Given the description of an element on the screen output the (x, y) to click on. 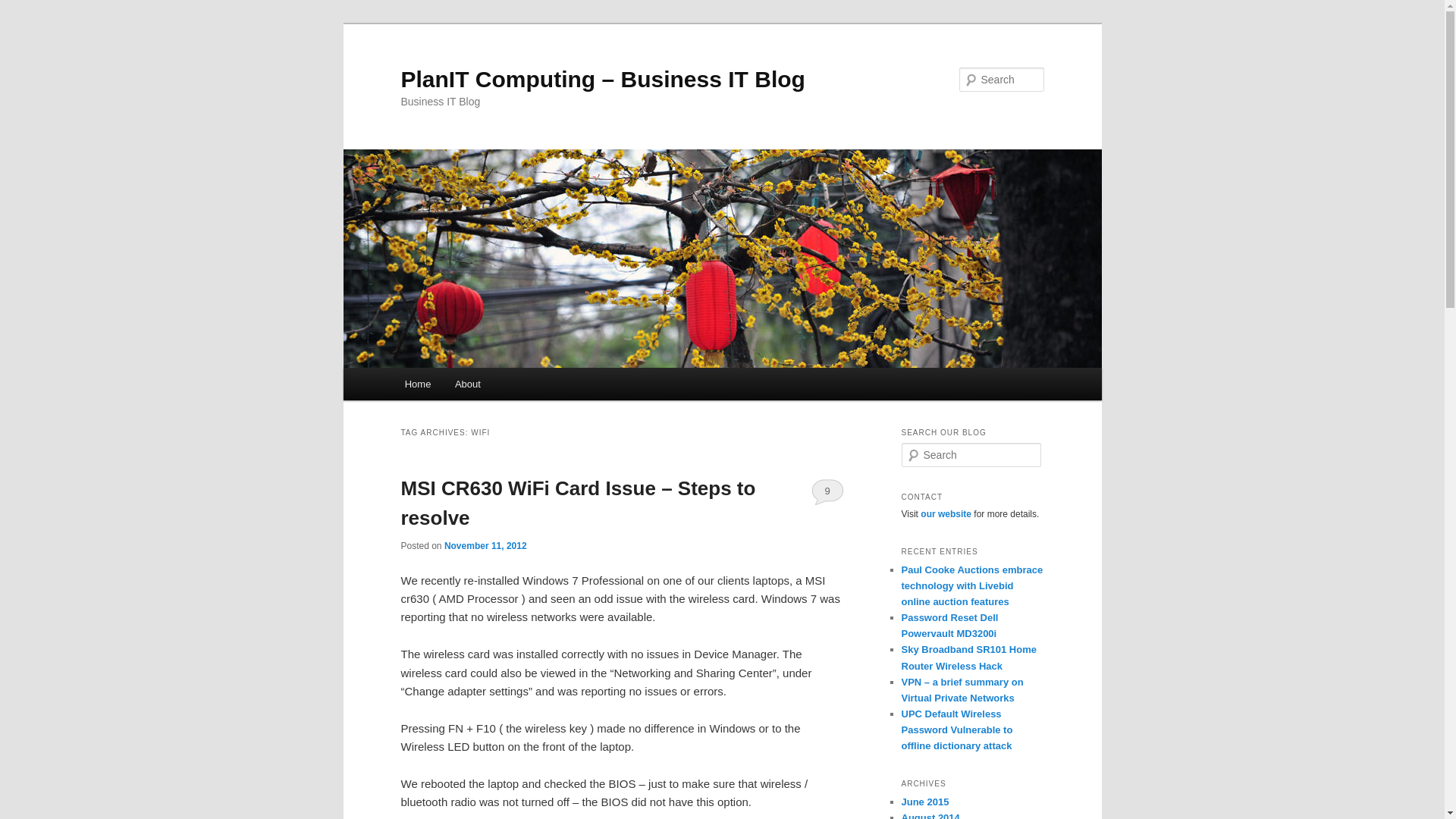
Search (21, 11)
Password Reset Dell Powervault MD3200i (949, 625)
Search (24, 8)
November 11, 2012 (485, 545)
10:25 pm (485, 545)
Home (417, 383)
9 (827, 491)
Sky Broadband SR101 Home Router Wireless Hack (968, 656)
our website (945, 513)
About (467, 383)
